Given the description of an element on the screen output the (x, y) to click on. 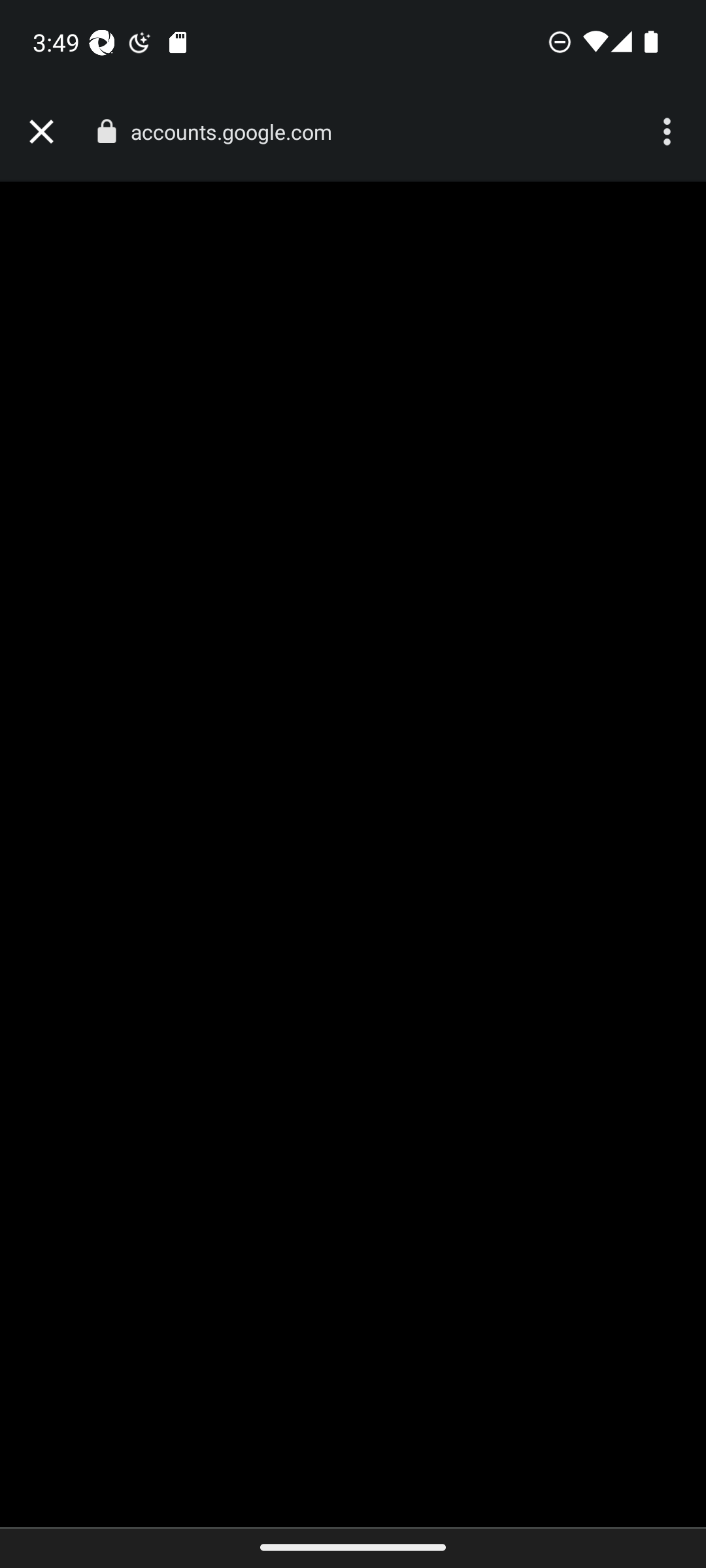
Close tab (41, 131)
More options (669, 131)
Connection is secure (106, 131)
accounts.google.com (237, 131)
